Given the description of an element on the screen output the (x, y) to click on. 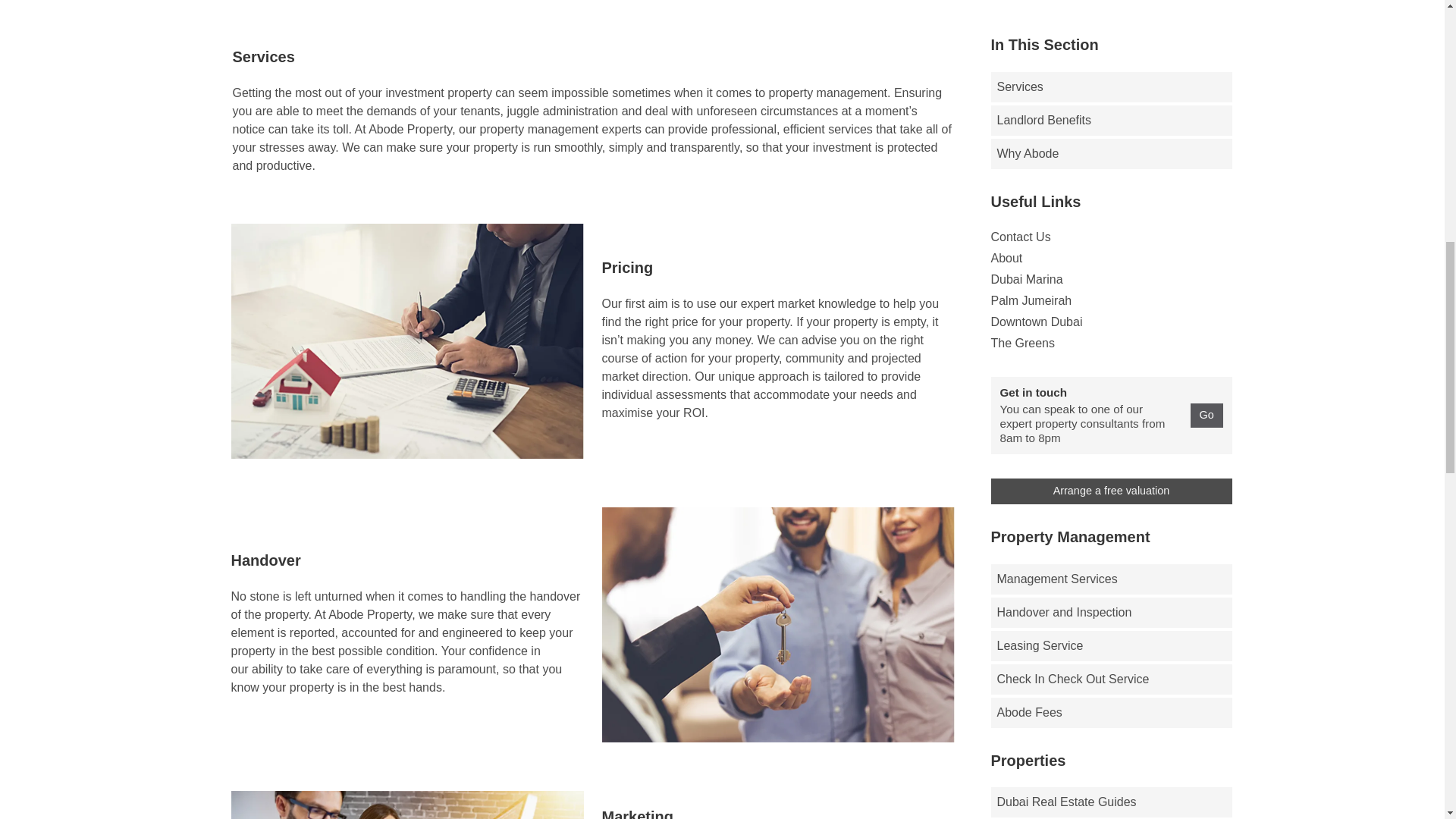
Services (1110, 85)
Why Abode (1110, 153)
Contact Us (1110, 237)
Palm Jumeirah (1110, 300)
Landlord Benefits (1110, 119)
Dubai Marina (1110, 280)
About (1110, 258)
